Given the description of an element on the screen output the (x, y) to click on. 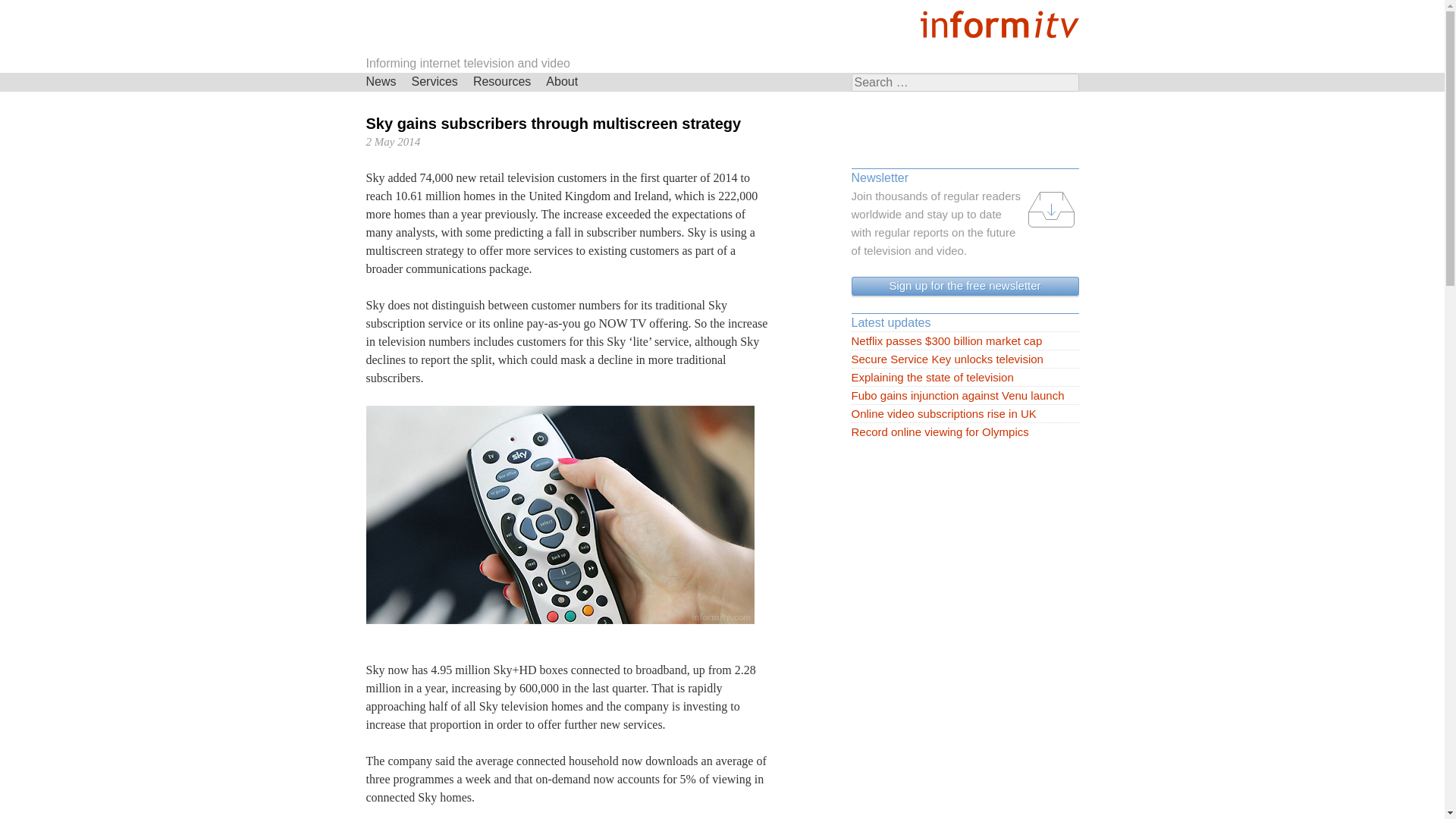
Search (26, 9)
Online video subscriptions rise in UK (964, 413)
Services (434, 81)
Record online viewing for Olympics (964, 432)
Fubo gains injunction against Venu launch (964, 395)
Sign up for the free newsletter (964, 285)
About (561, 81)
Resources (501, 81)
Get the newsletter (964, 285)
